Given the description of an element on the screen output the (x, y) to click on. 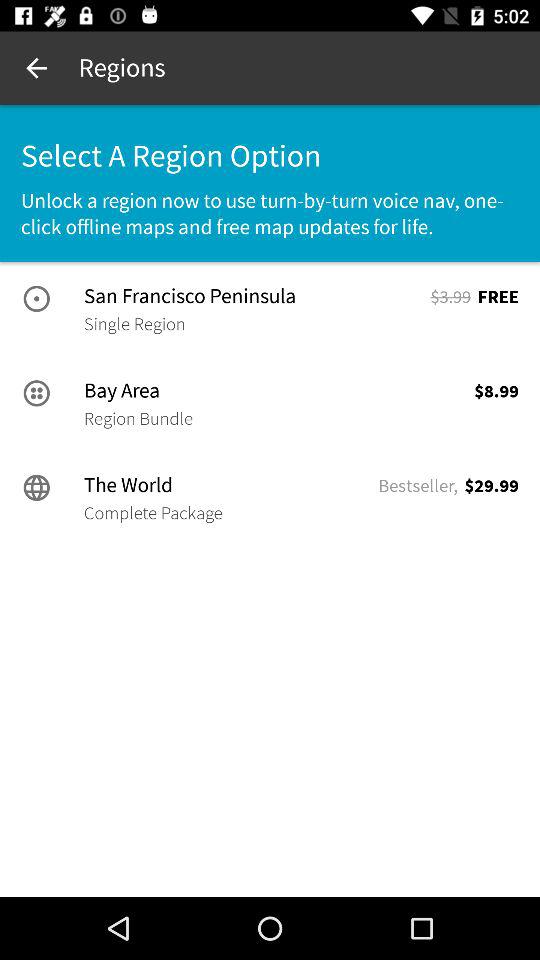
tap icon to the left of the $8.99 item (138, 418)
